Given the description of an element on the screen output the (x, y) to click on. 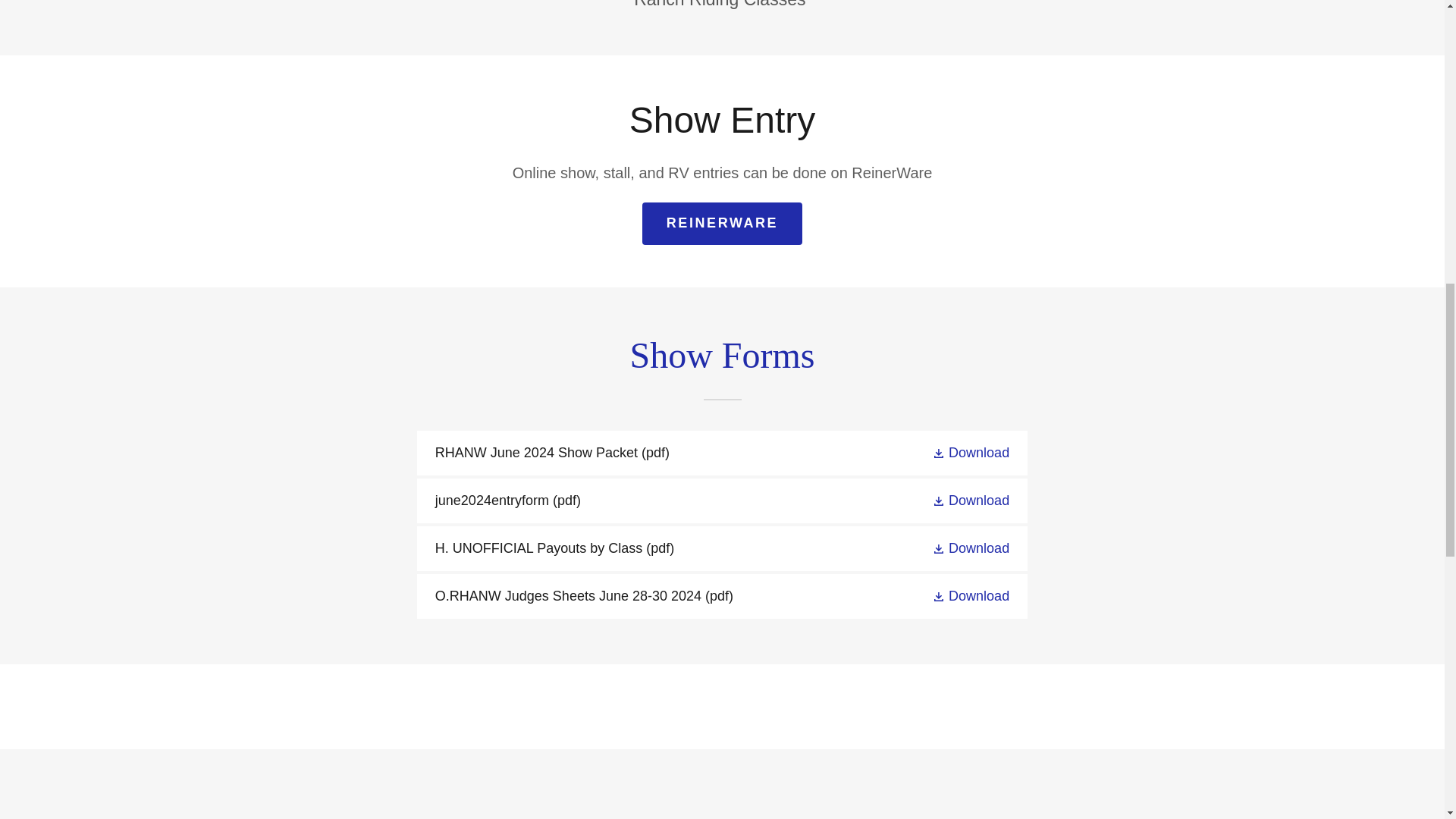
REINERWARE (722, 223)
